Given the description of an element on the screen output the (x, y) to click on. 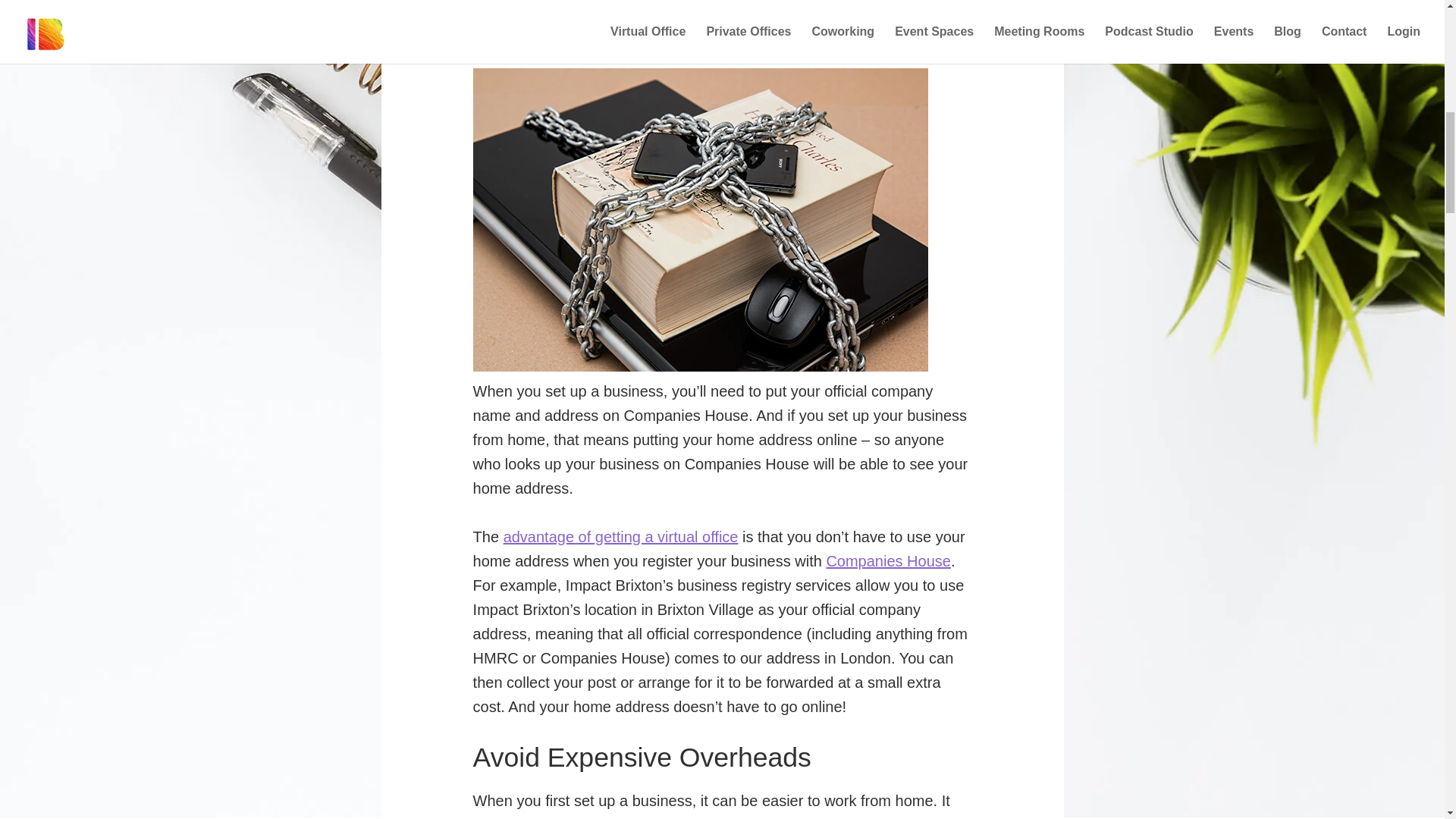
advantage of getting a virtual office (620, 536)
Companies House (887, 560)
